Given the description of an element on the screen output the (x, y) to click on. 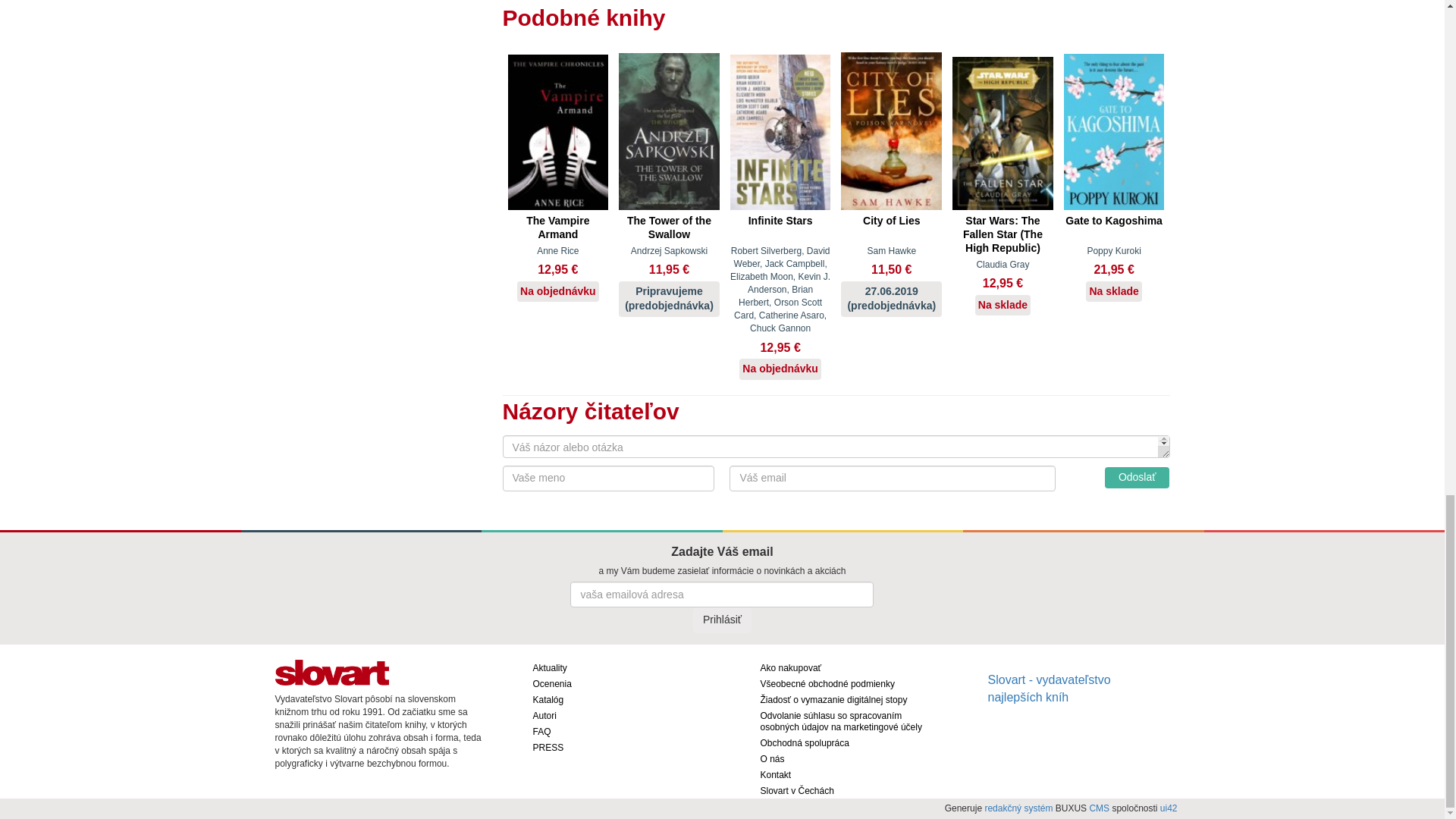
The Tower of the Swallow (668, 131)
Gate to Kagoshima (1114, 131)
The Vampire Armand (558, 131)
Infinite Stars (780, 131)
City of Lies (891, 130)
